Given the description of an element on the screen output the (x, y) to click on. 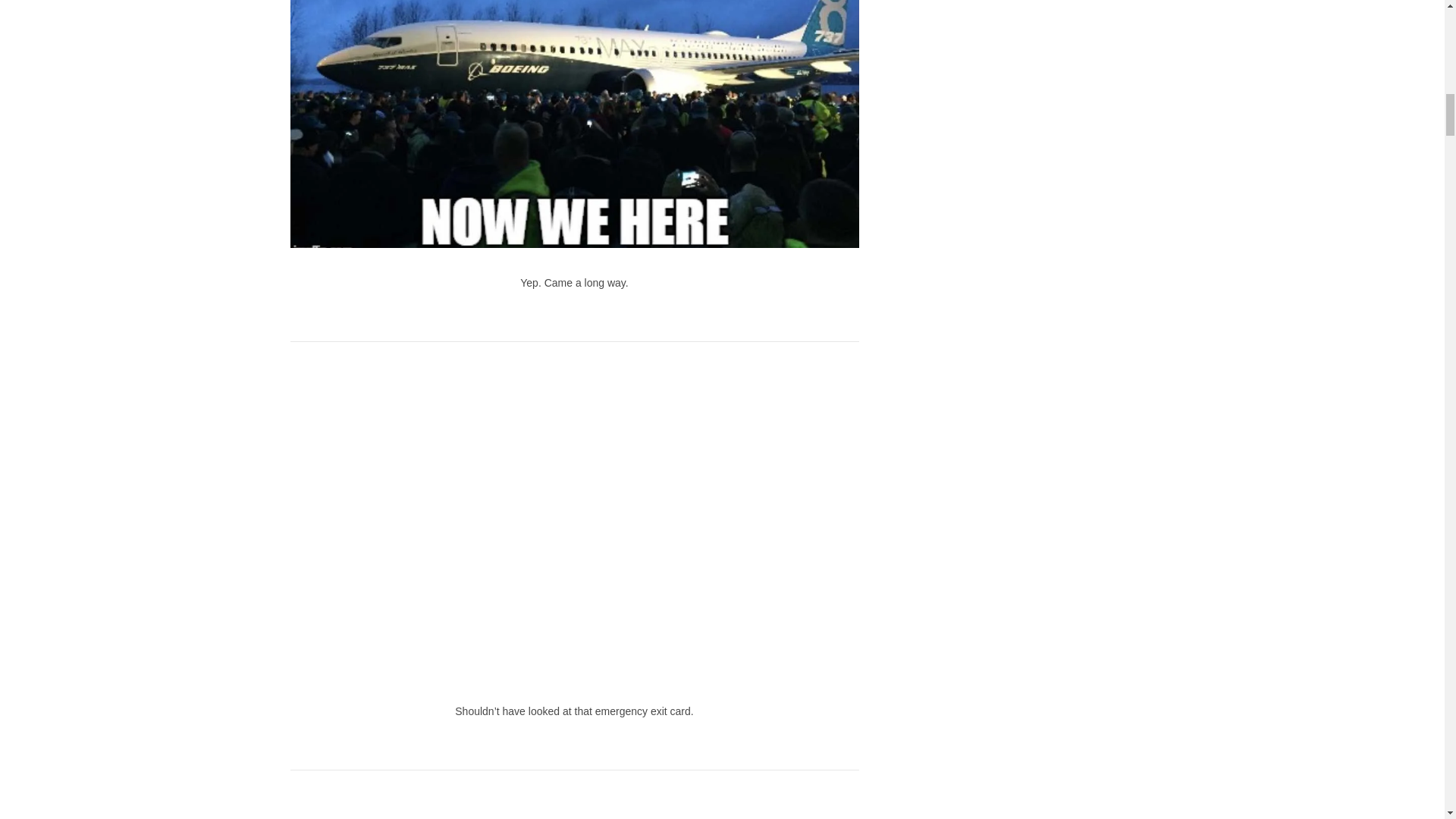
Funny-737-Max-Memes-16 (574, 802)
